Given the description of an element on the screen output the (x, y) to click on. 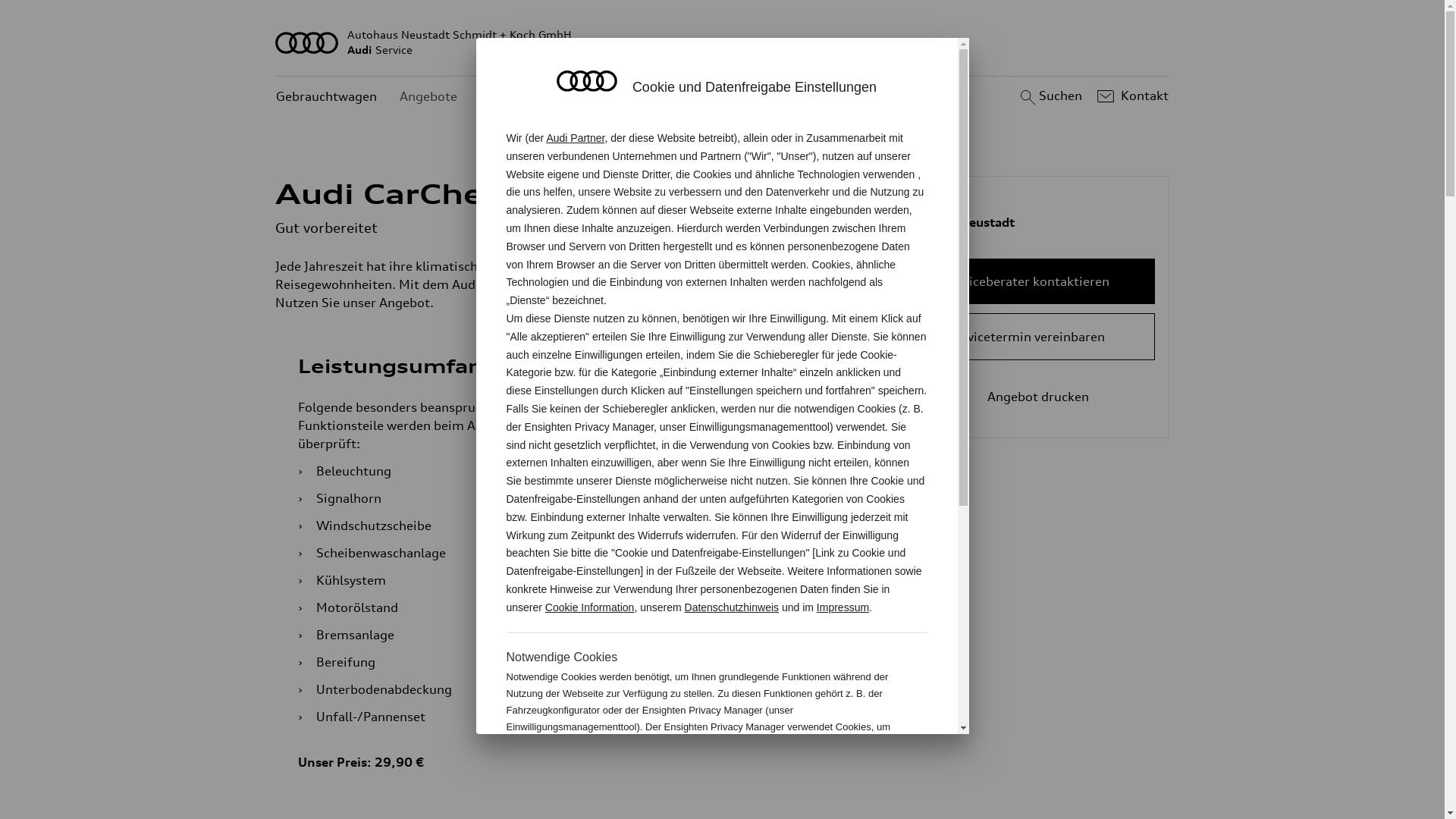
Cookie Information Element type: text (589, 607)
Kontakt Element type: text (1130, 96)
Audi Partner Element type: text (575, 137)
Angebot drucken Element type: text (1026, 396)
Angebote Element type: text (428, 96)
Serviceberater kontaktieren Element type: text (1025, 281)
Gebrauchtwagen Element type: text (326, 96)
Servicetermin vereinbaren Element type: text (1025, 336)
Suchen Element type: text (1049, 96)
Cookie Information Element type: text (847, 776)
Datenschutzhinweis Element type: text (731, 607)
Impressum Element type: text (842, 607)
Kundenservice Element type: text (523, 96)
Autohaus Neustadt Schmidt + Koch GmbH
AudiService Element type: text (722, 42)
